Given the description of an element on the screen output the (x, y) to click on. 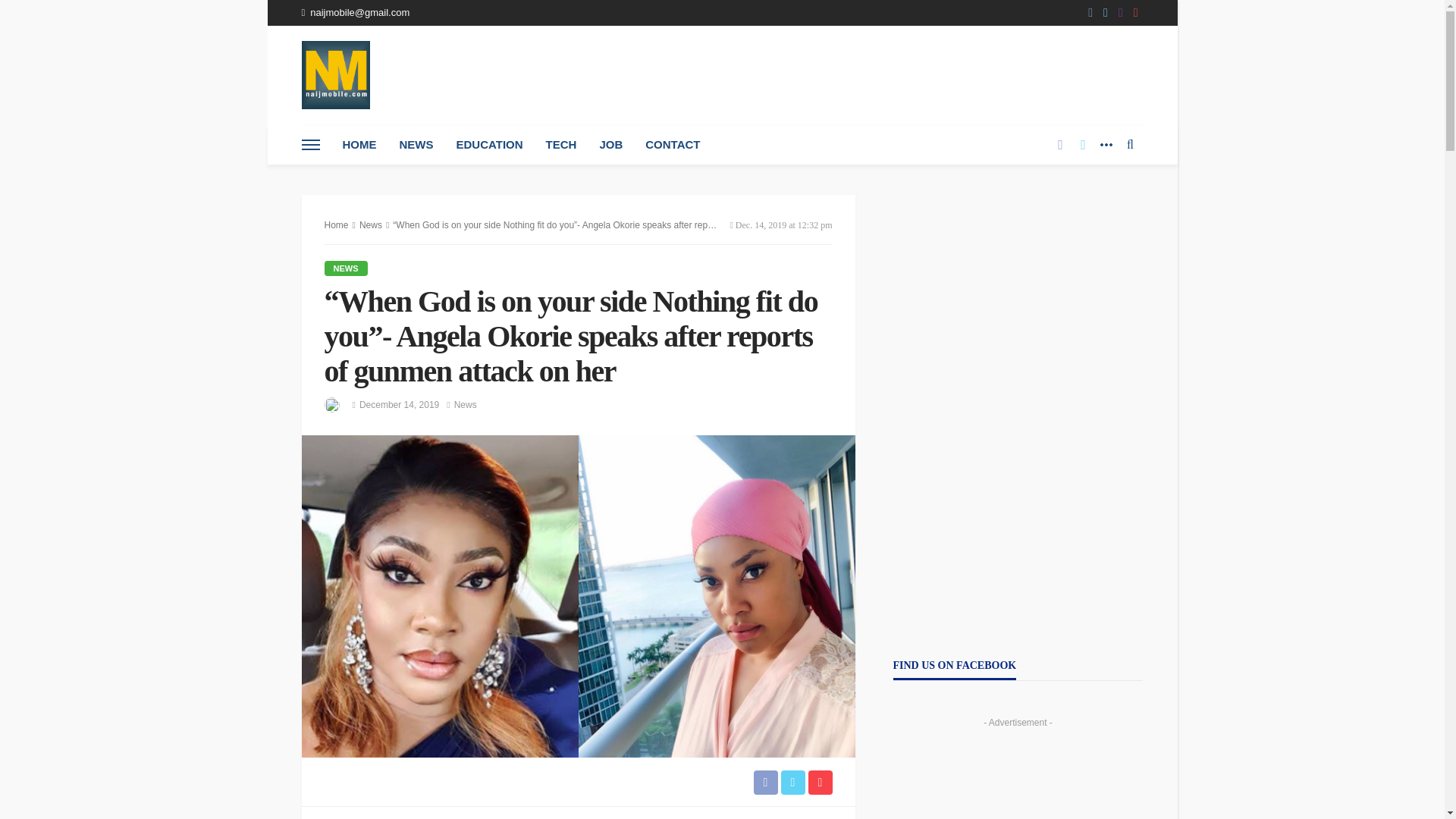
News (465, 404)
News (465, 404)
NEWS (416, 144)
Home (336, 225)
JOB (610, 144)
EDUCATION (489, 144)
News (346, 268)
CONTACT (672, 144)
NEWS (346, 268)
Naijmobile (335, 74)
